Given the description of an element on the screen output the (x, y) to click on. 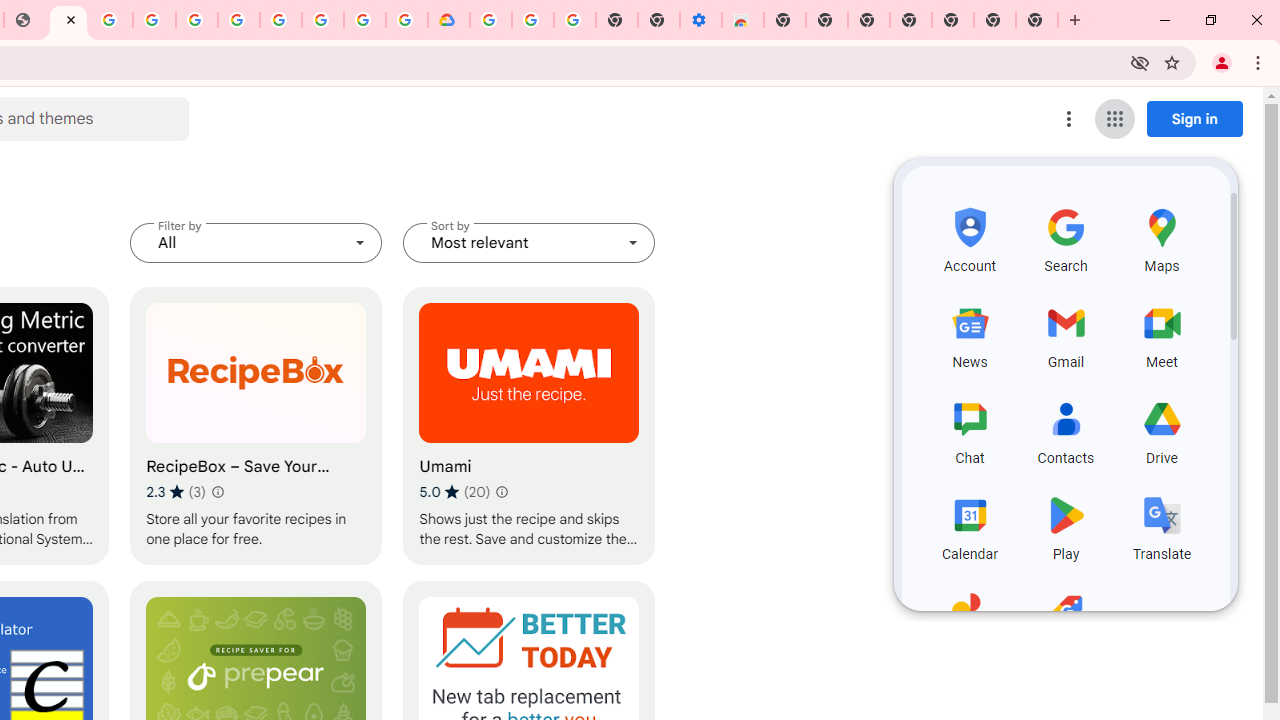
Sign in - Google Accounts (365, 20)
New Tab (785, 20)
Chrome Web Store - Household (68, 20)
